Given the description of an element on the screen output the (x, y) to click on. 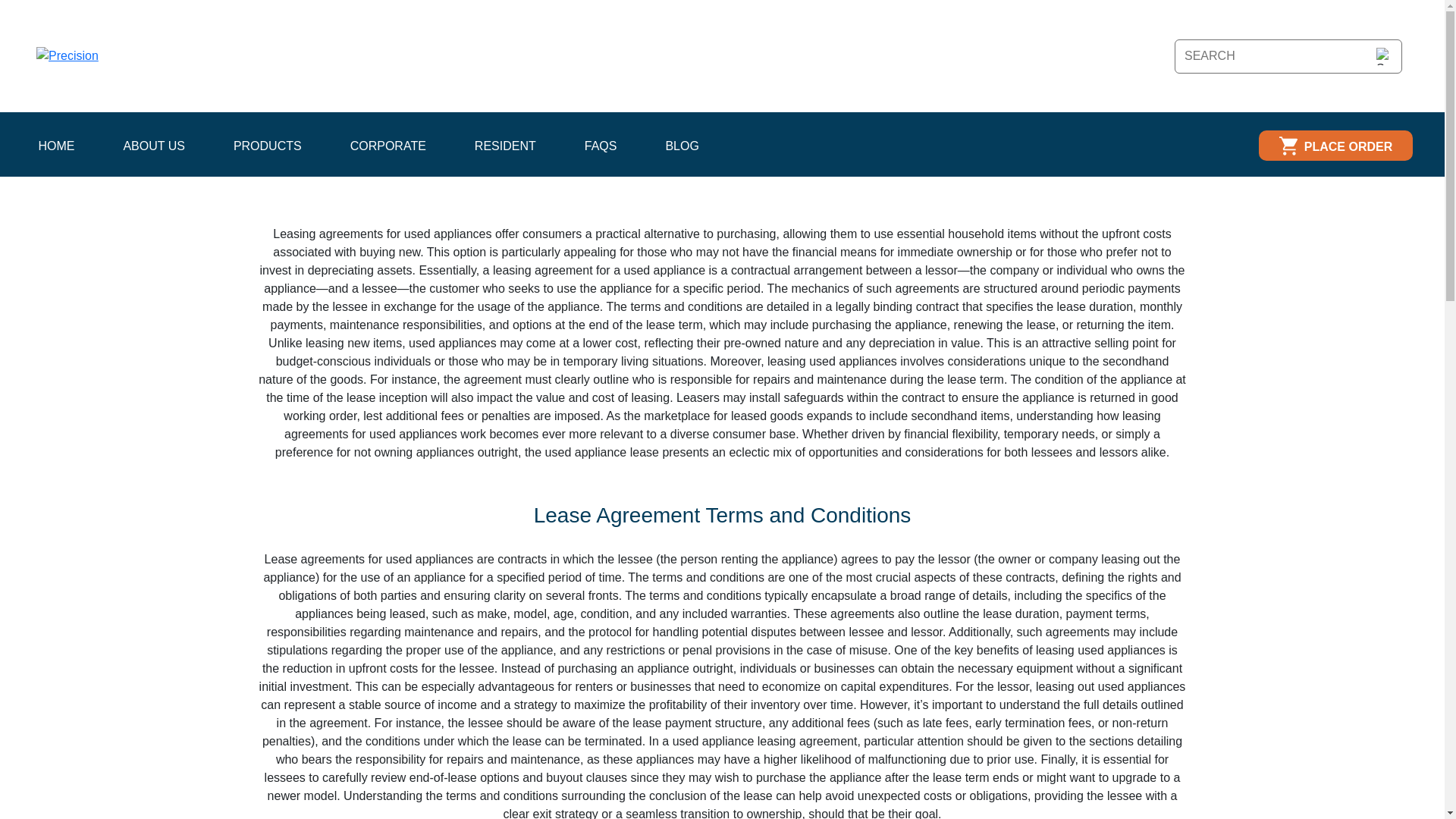
ABOUT US (153, 145)
HOME (56, 145)
RESIDENT (504, 145)
FAQS (600, 145)
PLACE ORDER (1335, 145)
CORPORATE (387, 145)
BLOG (681, 145)
PRODUCTS (267, 145)
